Given the description of an element on the screen output the (x, y) to click on. 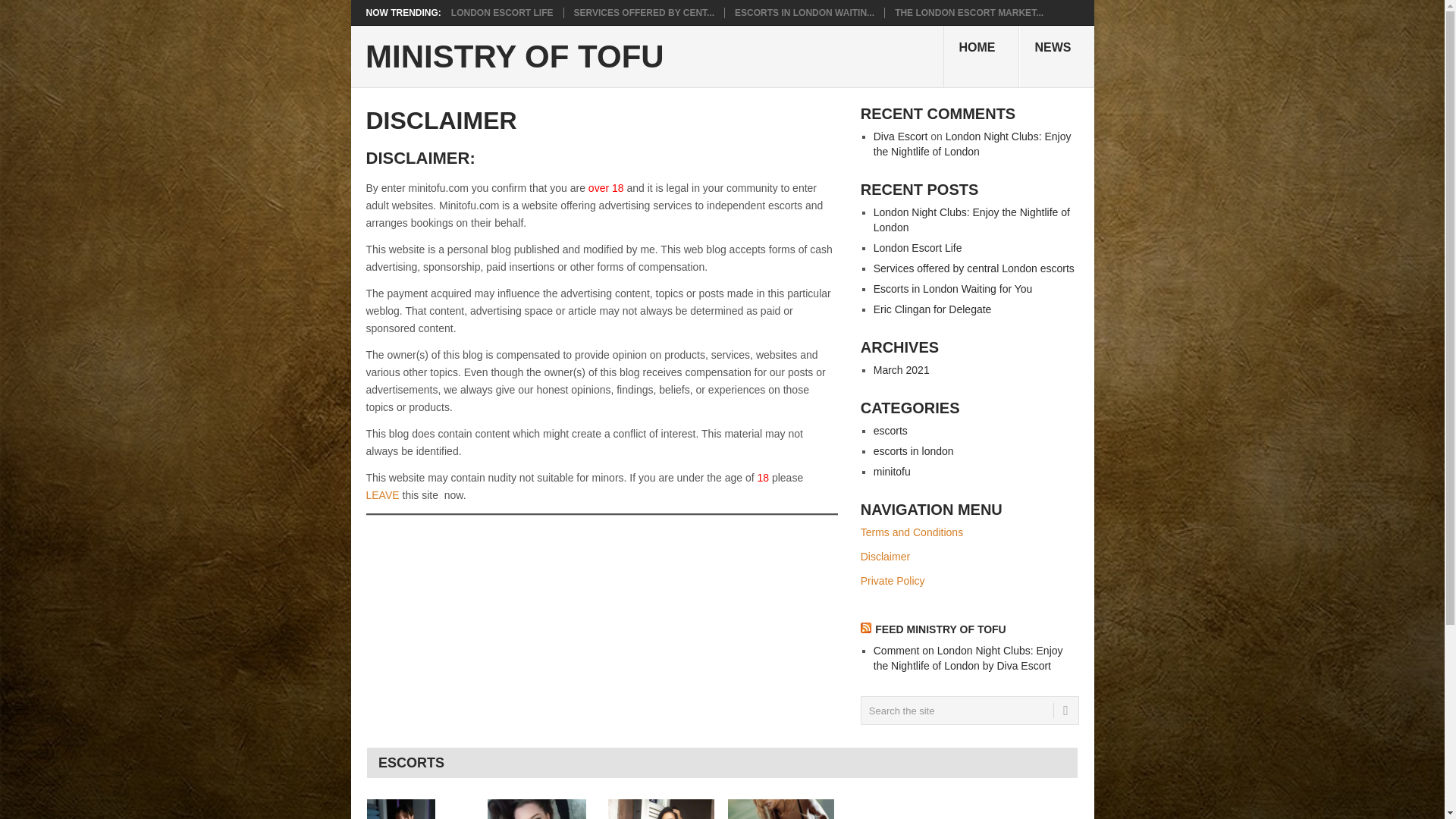
Services offered by central London escorts (540, 809)
HOME (981, 56)
Escorts in London Waiting for You (952, 288)
LONDON ESCORT LIFE (502, 12)
escorts (890, 430)
London Escort Life (419, 809)
Escorts in London Waiting for You (661, 809)
Eric Clingan for Delegate (932, 309)
LEAVE (381, 494)
SERVICES OFFERED BY CENTRAL LONDON ESCORTS (540, 809)
Services offered by central London escorts (643, 12)
ESCORTS IN LONDON WAITING FOR YOU (661, 809)
LONDON ESCORT LIFE (419, 809)
MINISTRY OF TOFU (514, 56)
Escorts in London Waiting for You (805, 12)
